Given the description of an element on the screen output the (x, y) to click on. 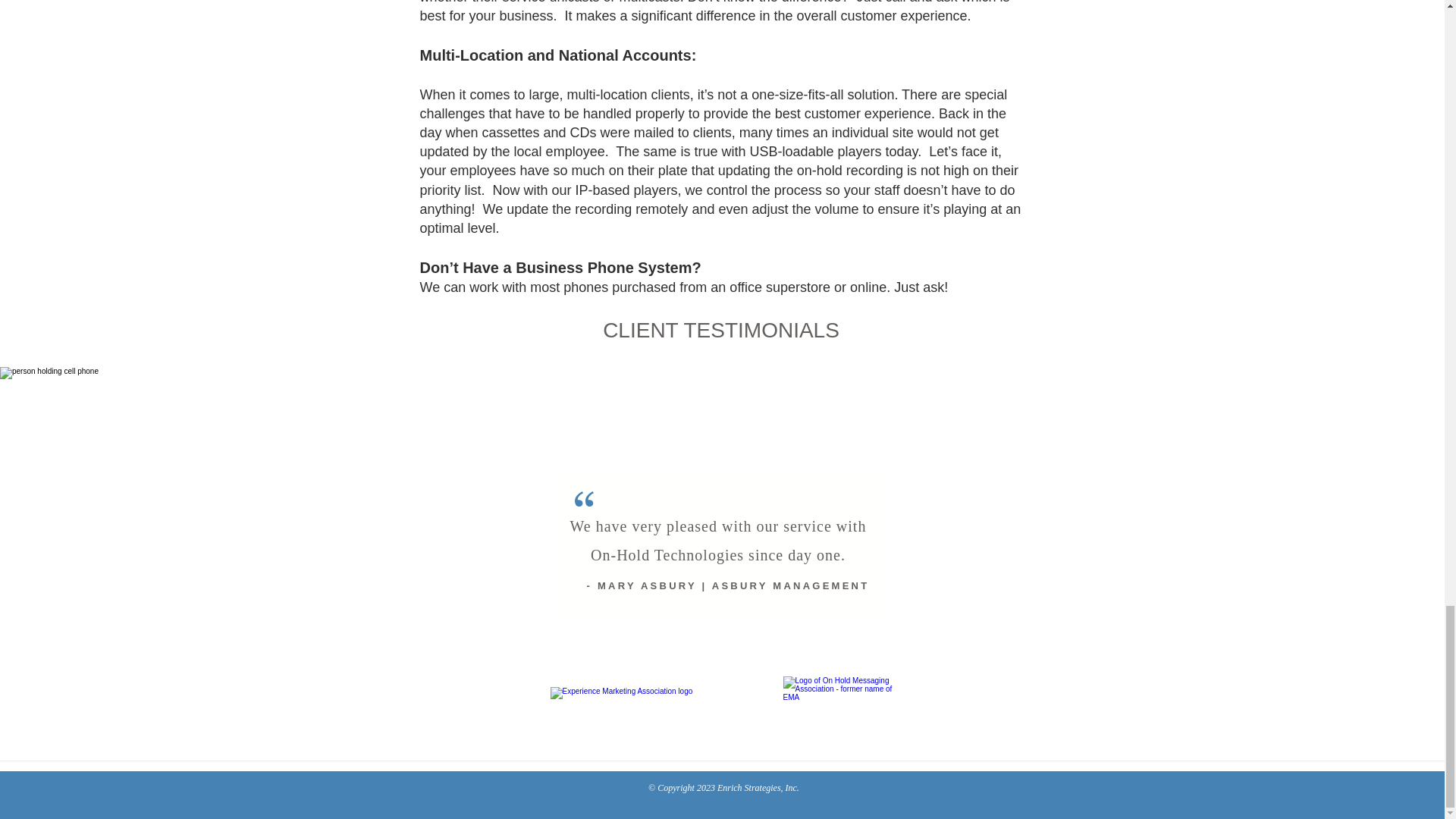
Click on link to verify EMA membership (845, 712)
